Given the description of an element on the screen output the (x, y) to click on. 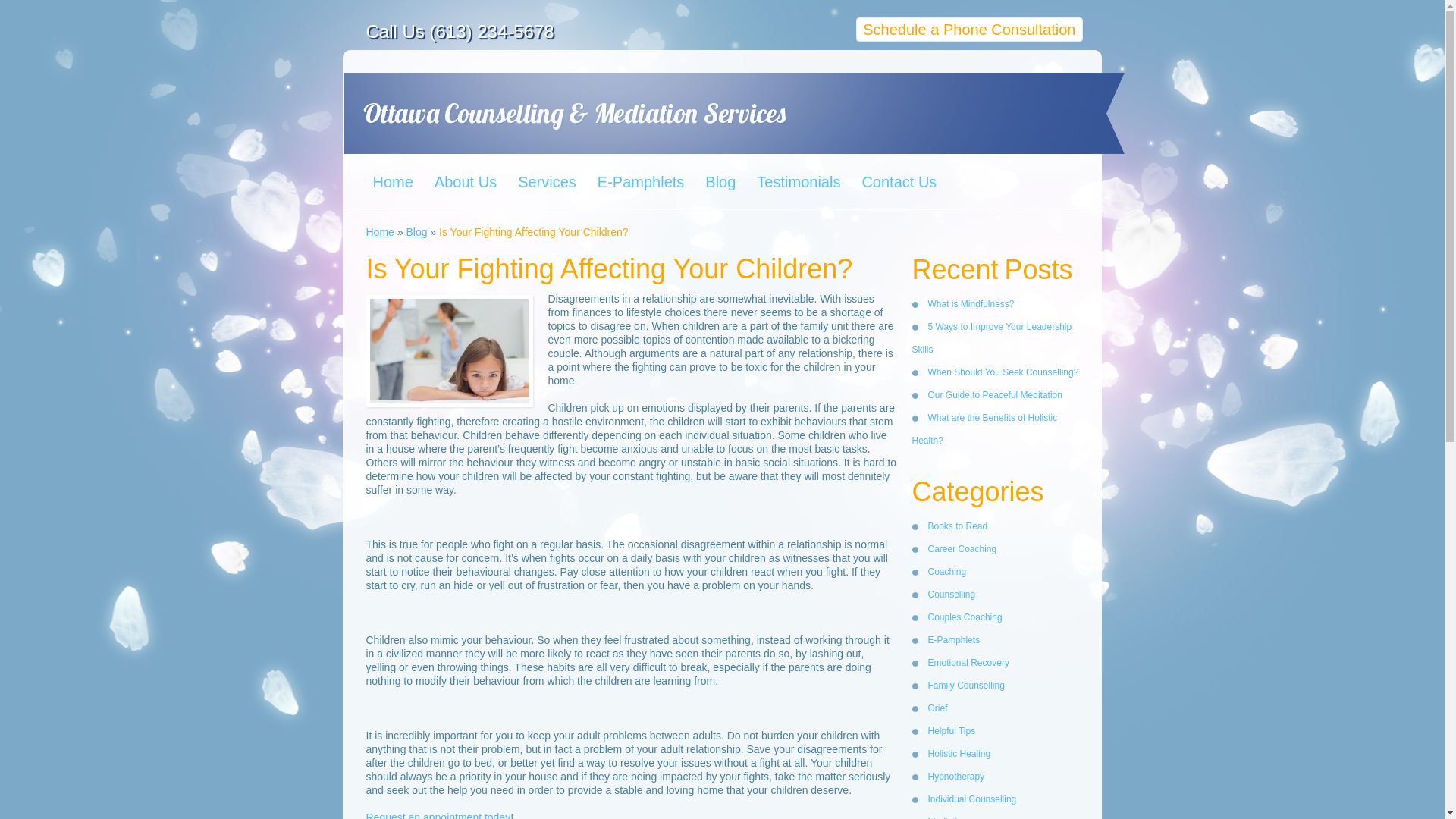
Home (379, 232)
Services (545, 181)
Blog (718, 181)
About Us (463, 181)
Schedule a Phone Consultation (968, 29)
E-Pamphlets (638, 181)
Blog (416, 232)
Home (391, 181)
Contact Us (896, 181)
Request an appointment today (438, 815)
